Given the description of an element on the screen output the (x, y) to click on. 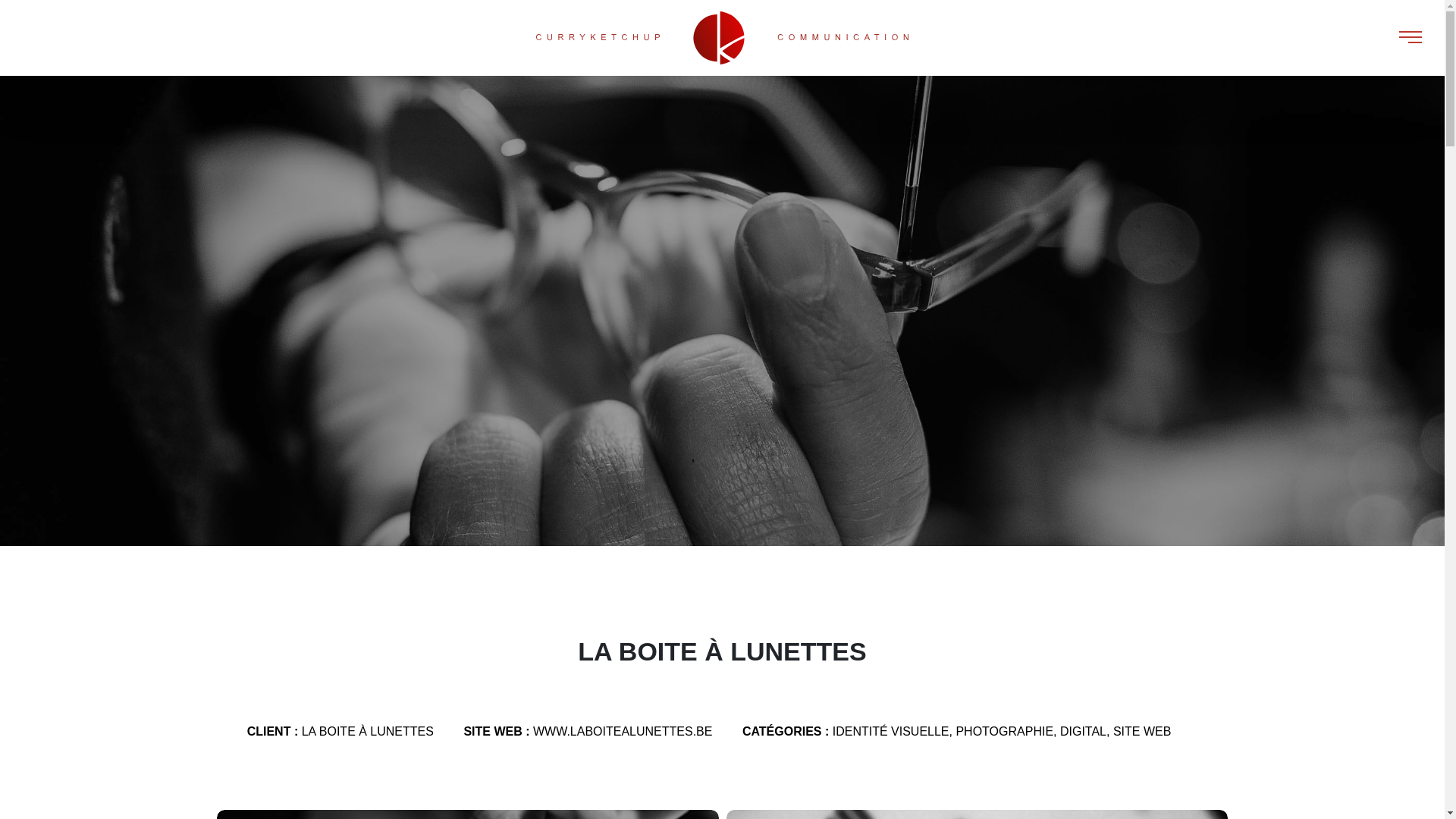
WWW.LABOITEALUNETTES.BE Element type: text (622, 730)
+32 465 72 85 81 Element type: text (516, 740)
+32 02 543 44 86 Element type: text (516, 724)
info@curryketchup.be Element type: text (526, 708)
